Given the description of an element on the screen output the (x, y) to click on. 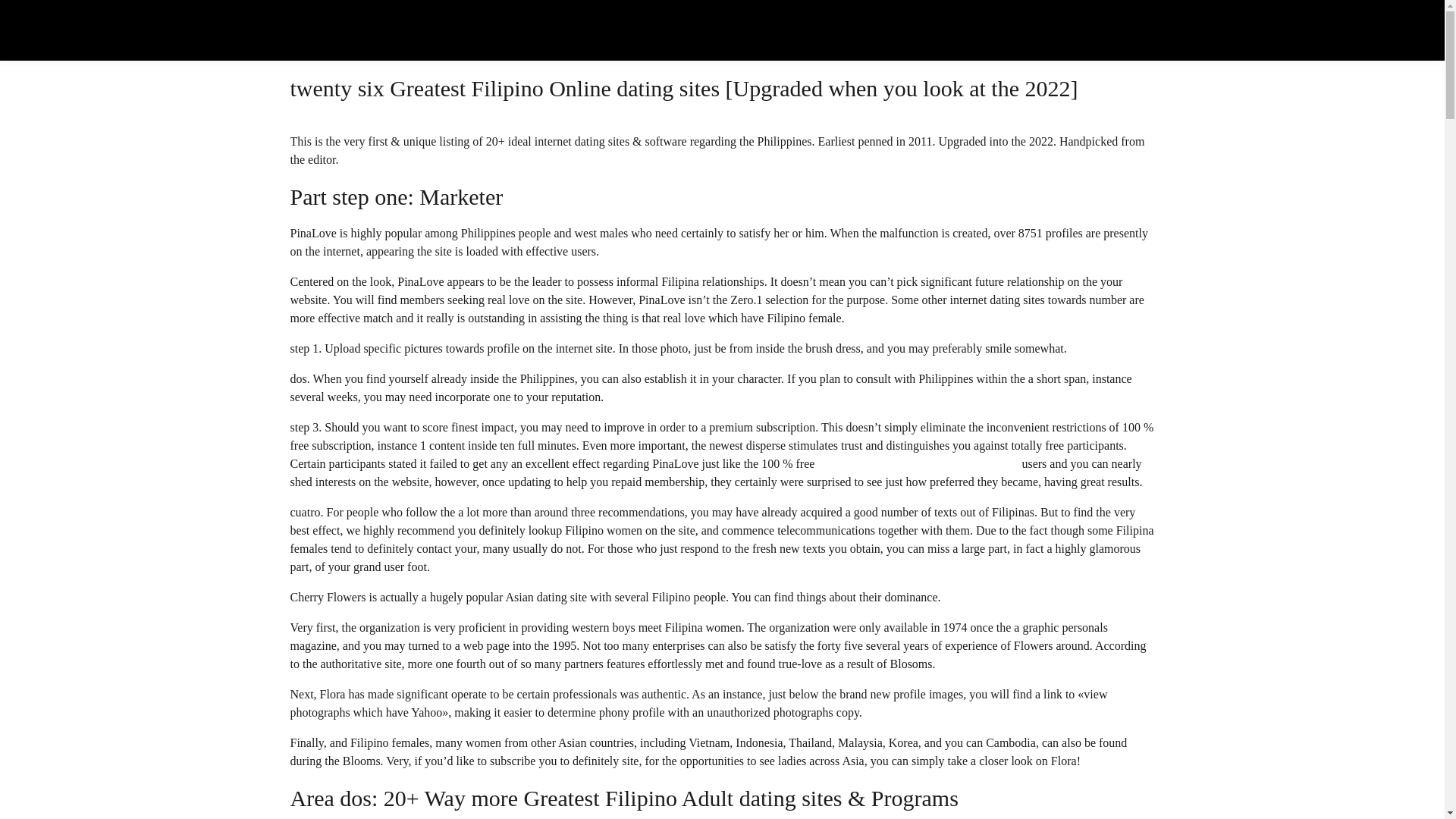
Top Dating Sites hookup mobile app (442, 41)
Entradas de admin (322, 41)
admin (322, 41)
